Given the description of an element on the screen output the (x, y) to click on. 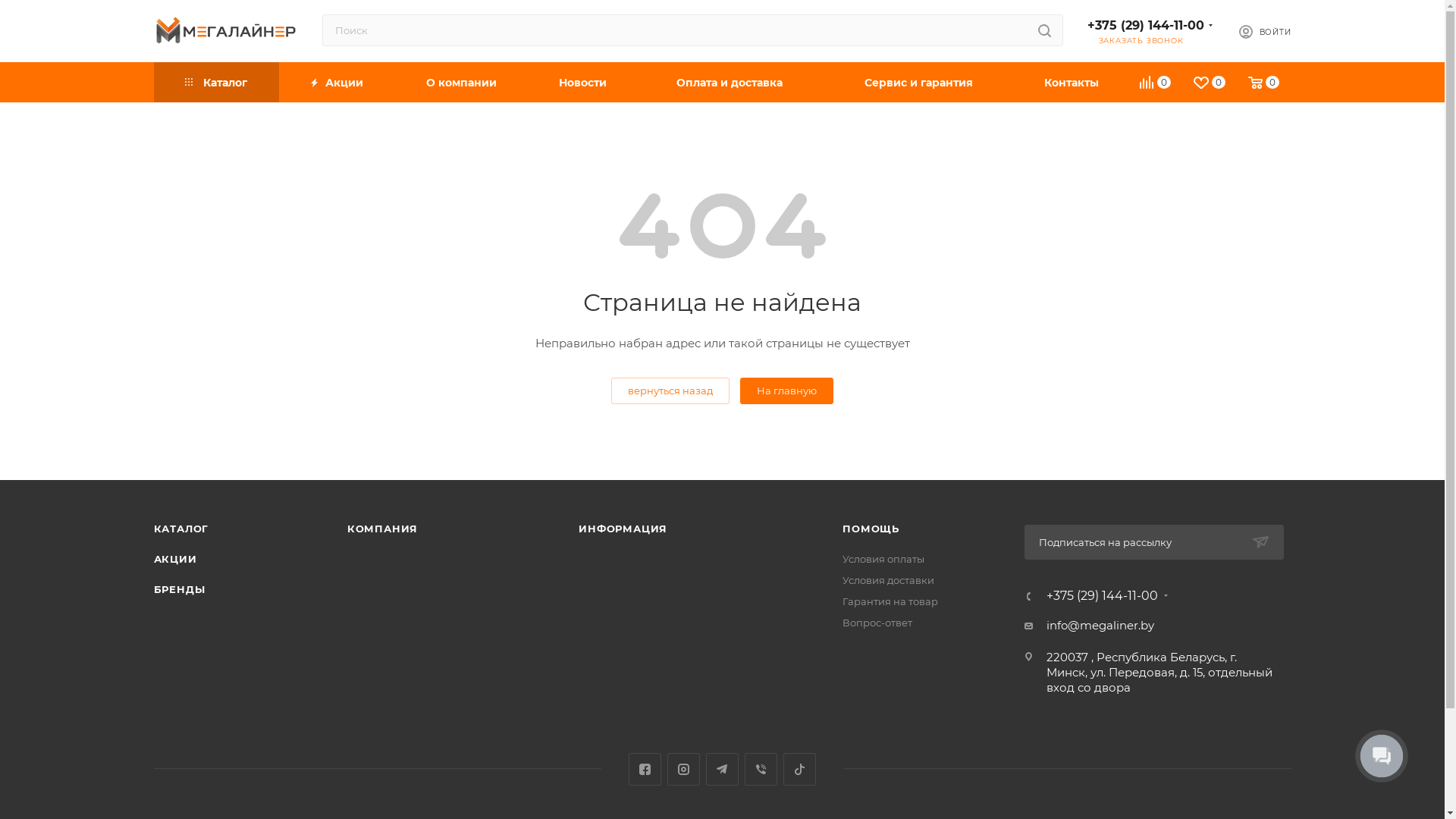
+375 (29) 144-11-00 Element type: text (1101, 595)
MEGALINER Element type: hover (225, 29)
0 Element type: text (1210, 84)
info@megaliner.by Element type: text (1100, 625)
+375 (29) 144-11-00 Element type: text (1145, 25)
0 Element type: text (1155, 84)
Instagram Element type: text (683, 769)
Facebook Element type: text (644, 769)
Viber Element type: text (760, 769)
TikTok Element type: text (799, 769)
Telegram Element type: text (722, 769)
0 Element type: text (1264, 84)
